Given the description of an element on the screen output the (x, y) to click on. 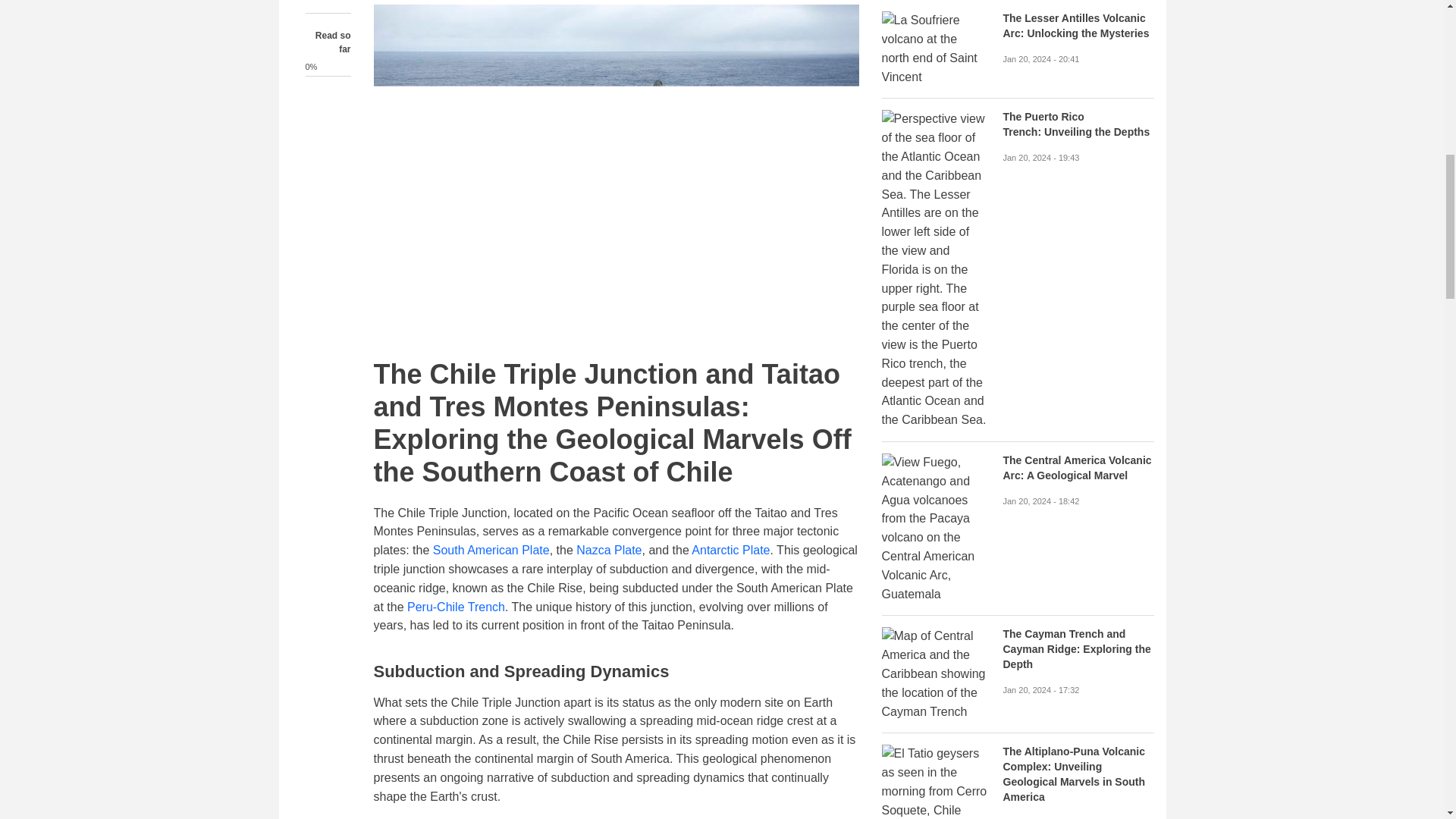
South American Plate (491, 549)
Nazca Plate (609, 549)
Peru-Chile Trench (456, 606)
Antarctic Plate (730, 549)
